Given the description of an element on the screen output the (x, y) to click on. 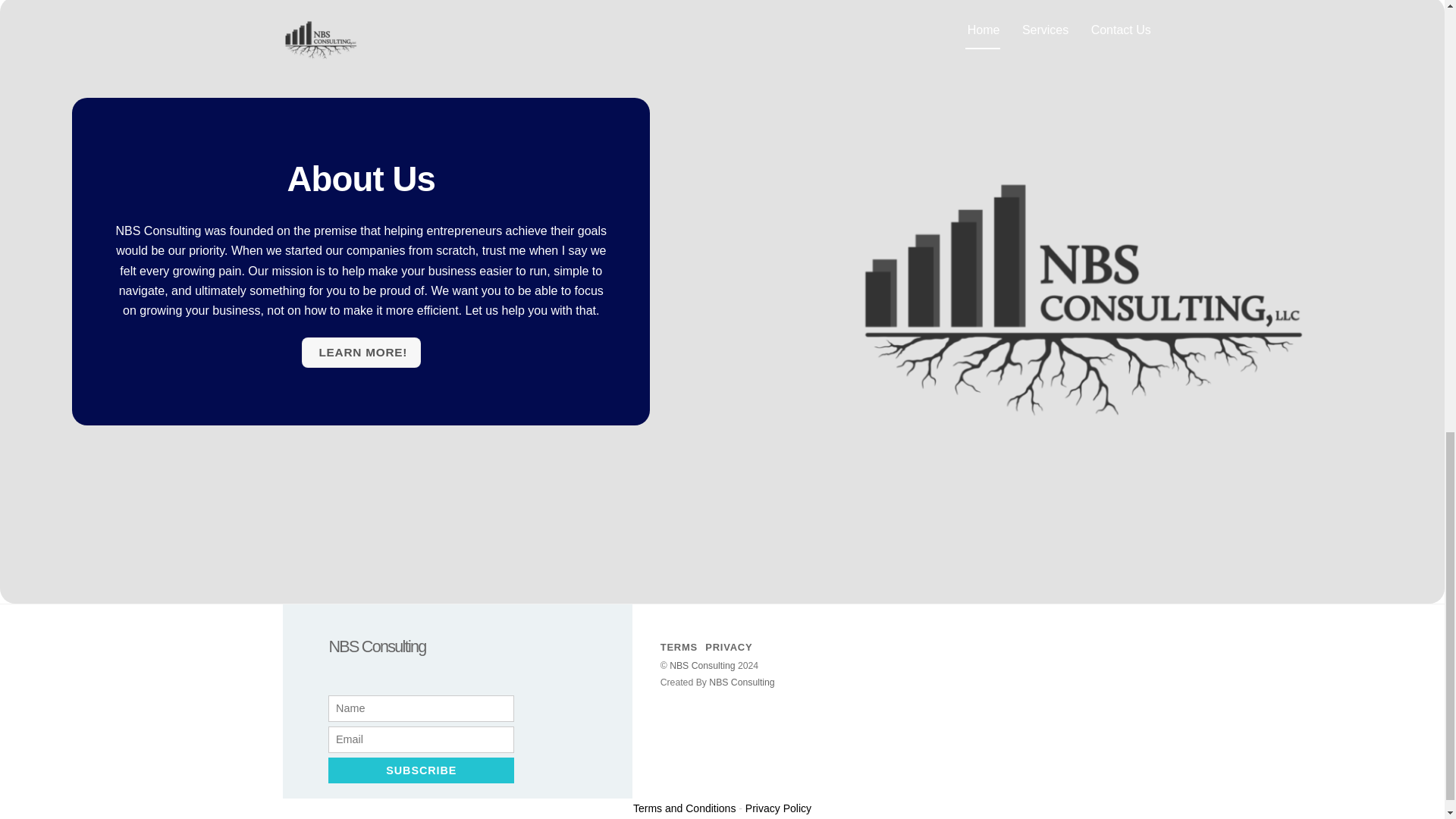
NBS Consulting (702, 665)
PRIVACY (728, 646)
TERMS (679, 646)
Subscribe (421, 770)
NBS Consulting (741, 682)
Privacy Policy (777, 808)
NBS Consulting (377, 646)
NBS Consulting (377, 646)
LEARN MORE! (360, 352)
Subscribe (421, 770)
Terms and Conditions (684, 808)
